Given the description of an element on the screen output the (x, y) to click on. 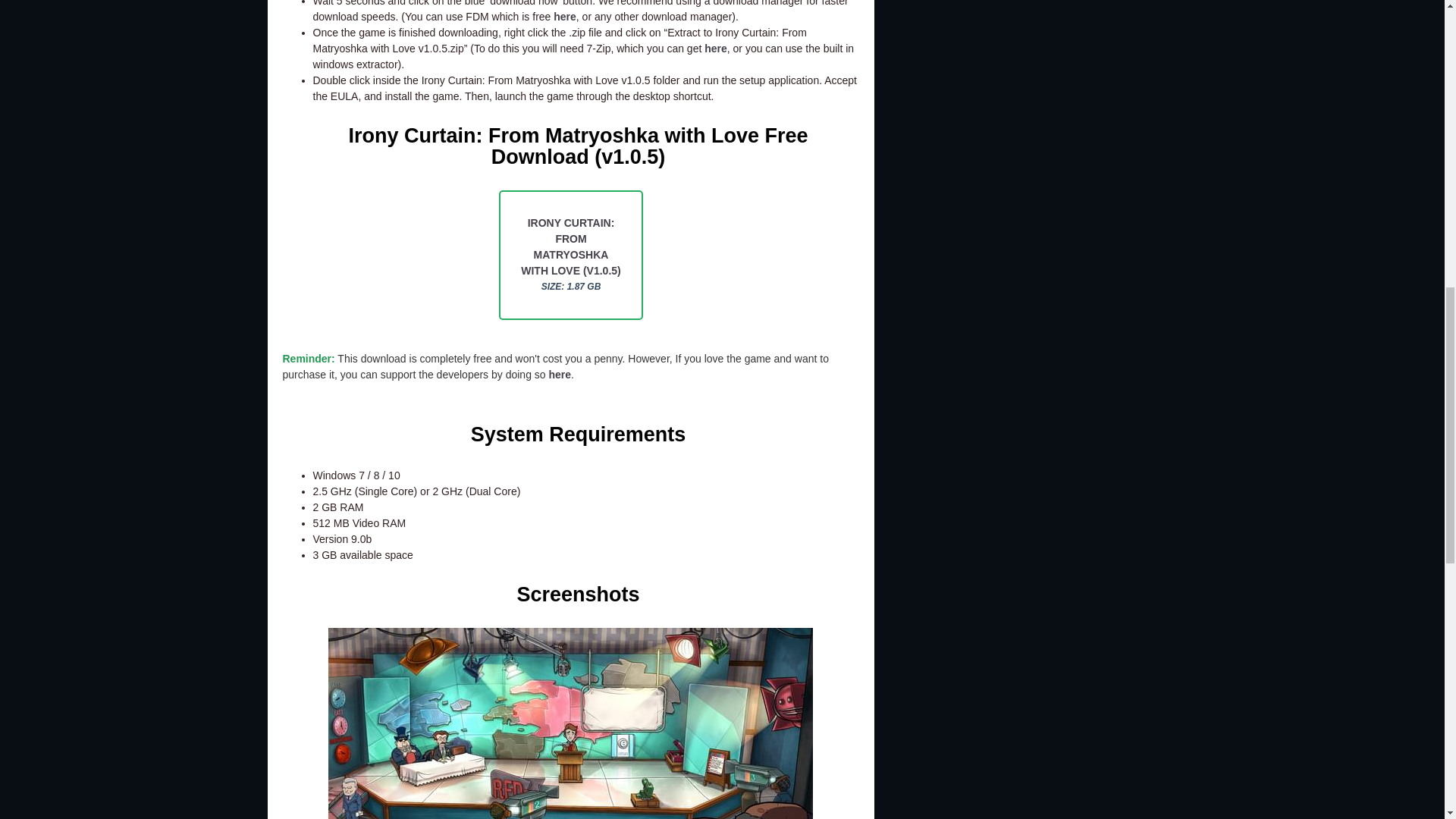
here (564, 16)
here (560, 374)
here (715, 48)
